Given the description of an element on the screen output the (x, y) to click on. 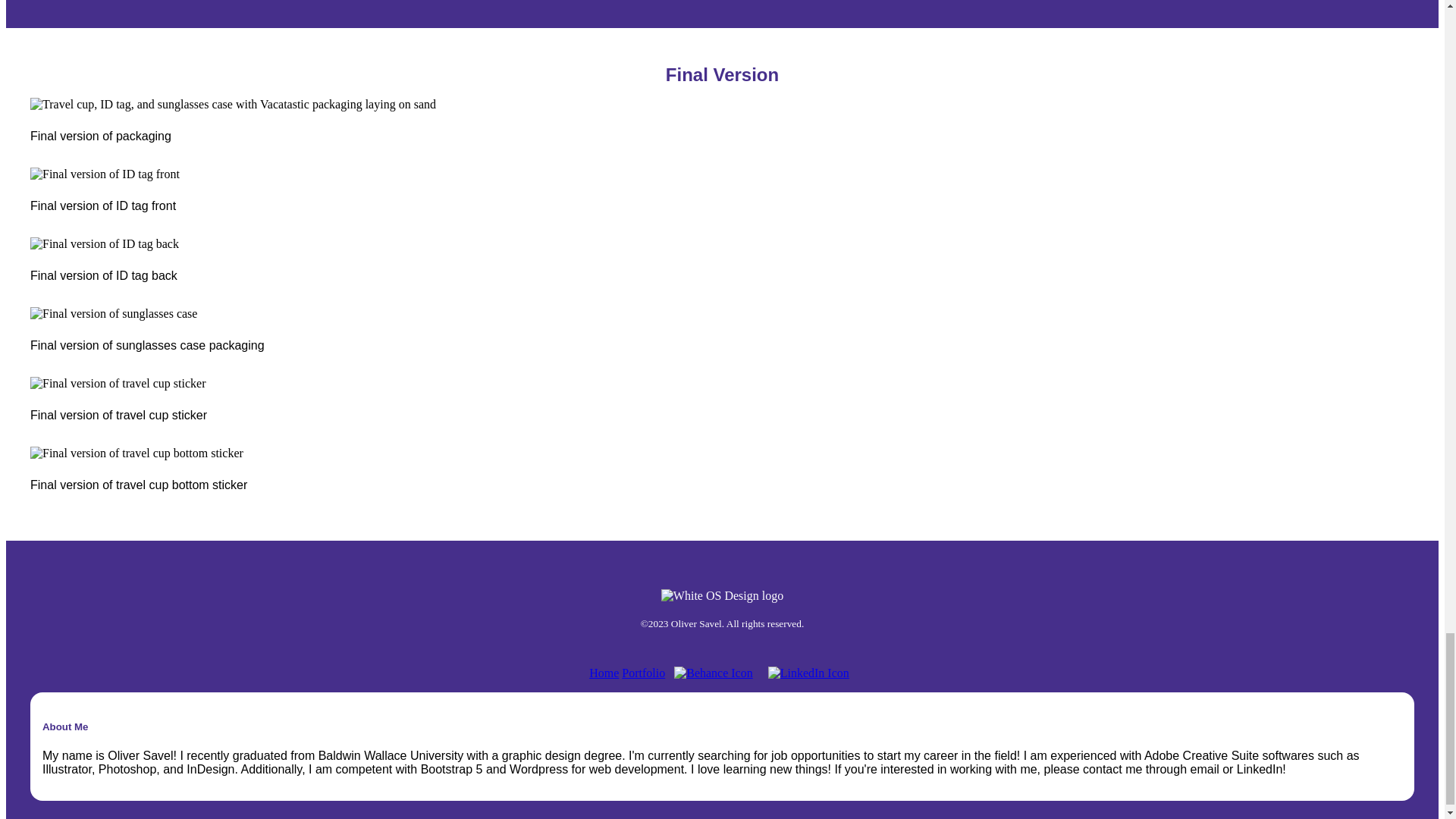
Portfolio (643, 672)
Home (603, 672)
